Given the description of an element on the screen output the (x, y) to click on. 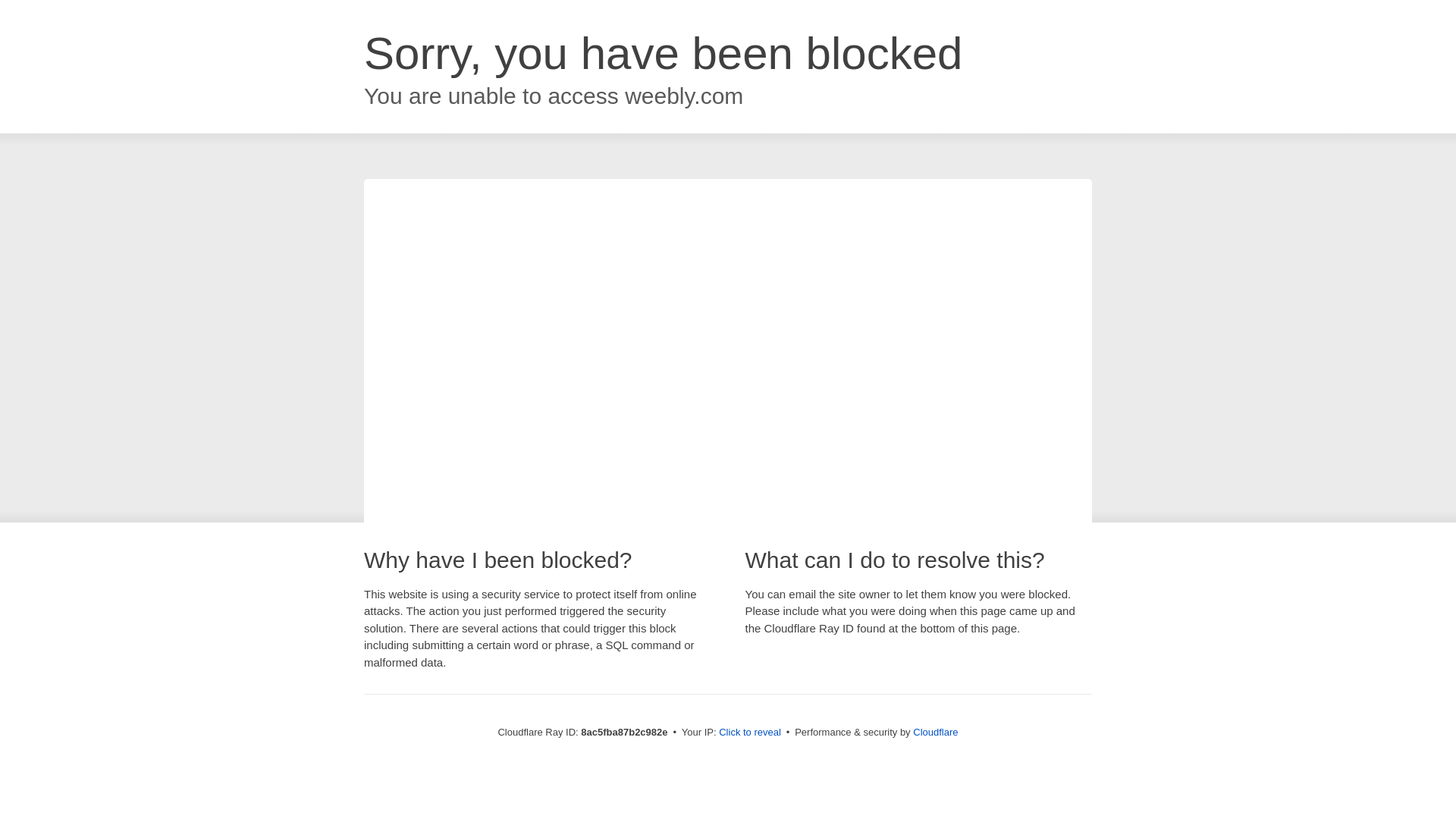
Cloudflare (935, 731)
Click to reveal (749, 732)
